Given the description of an element on the screen output the (x, y) to click on. 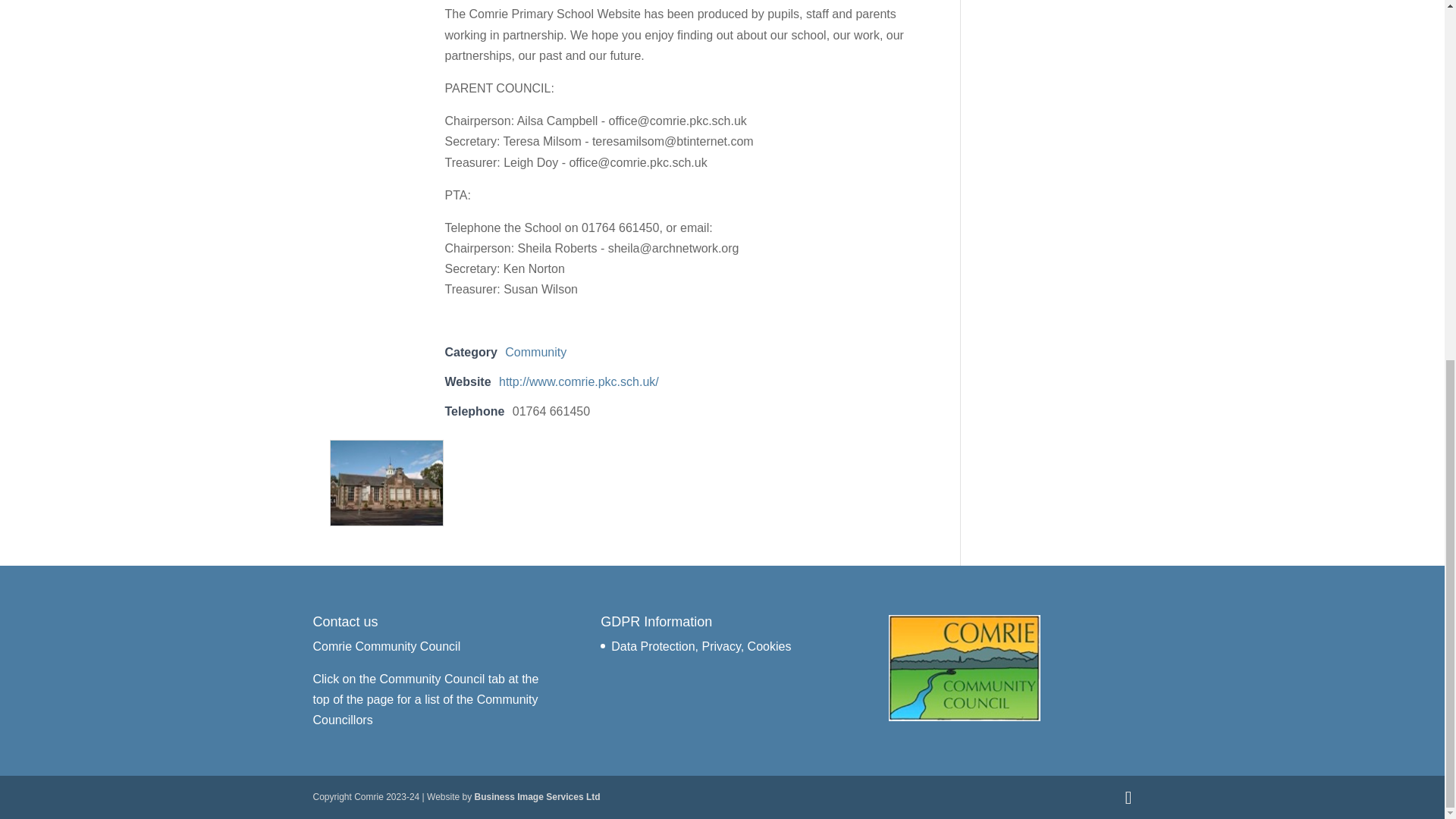
Data Protection, Privacy, Cookies (700, 645)
Comrie Primary School (385, 482)
Business Image Services Ltd (536, 796)
Community (535, 351)
